Given the description of an element on the screen output the (x, y) to click on. 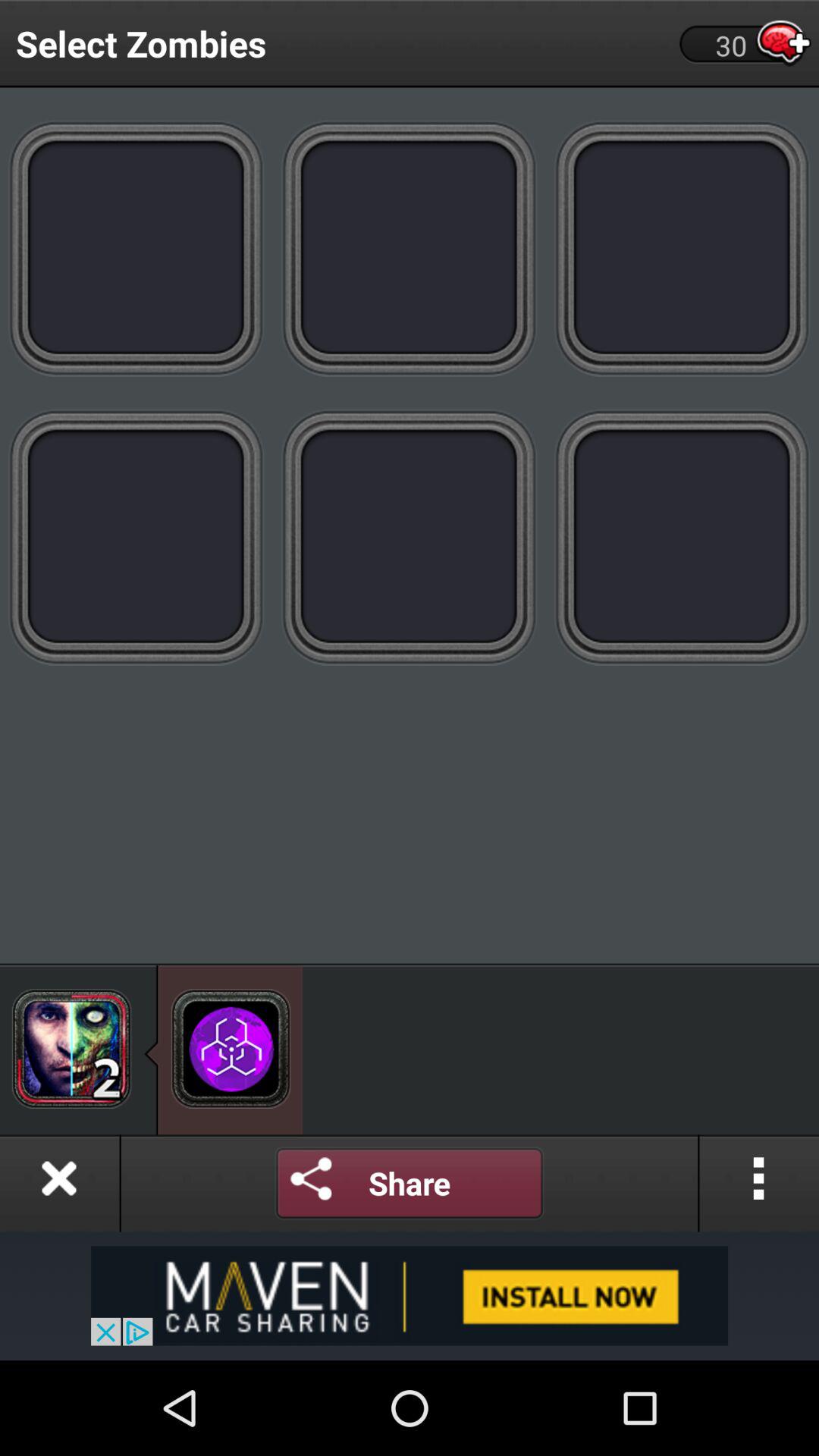
go to advertisement (409, 1295)
